Given the description of an element on the screen output the (x, y) to click on. 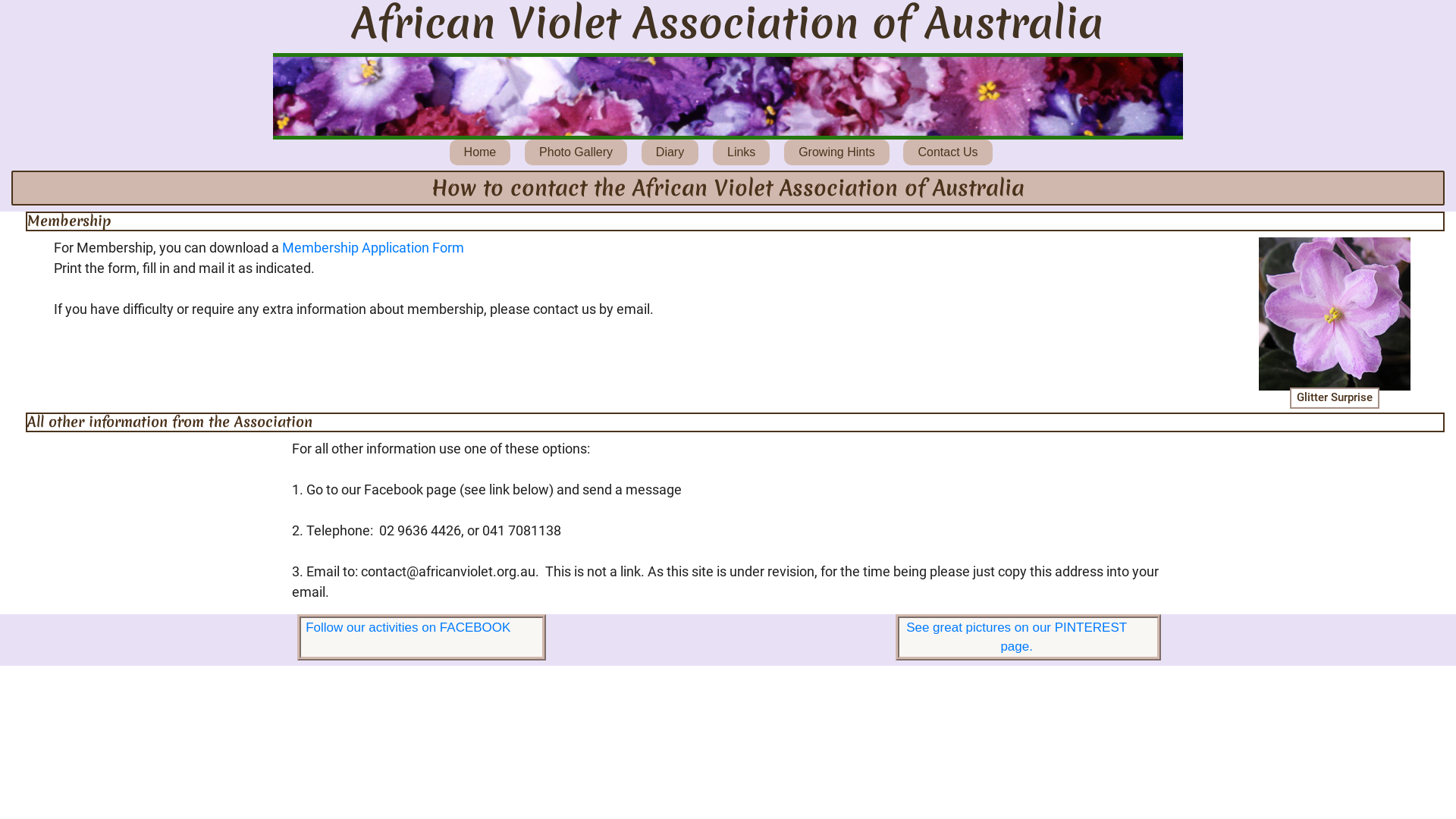
Links Element type: text (740, 152)
Growing Hints Element type: text (836, 152)
Photo Gallery Element type: text (575, 152)
Diary Element type: text (669, 152)
Membership Application Form Element type: text (373, 247)
Contact Us Element type: text (947, 152)
Follow our activities on FACEBOOK  Element type: text (421, 637)
Home Element type: text (480, 152)
See great pictures on our PINTEREST page. Element type: text (1028, 637)
